Given the description of an element on the screen output the (x, y) to click on. 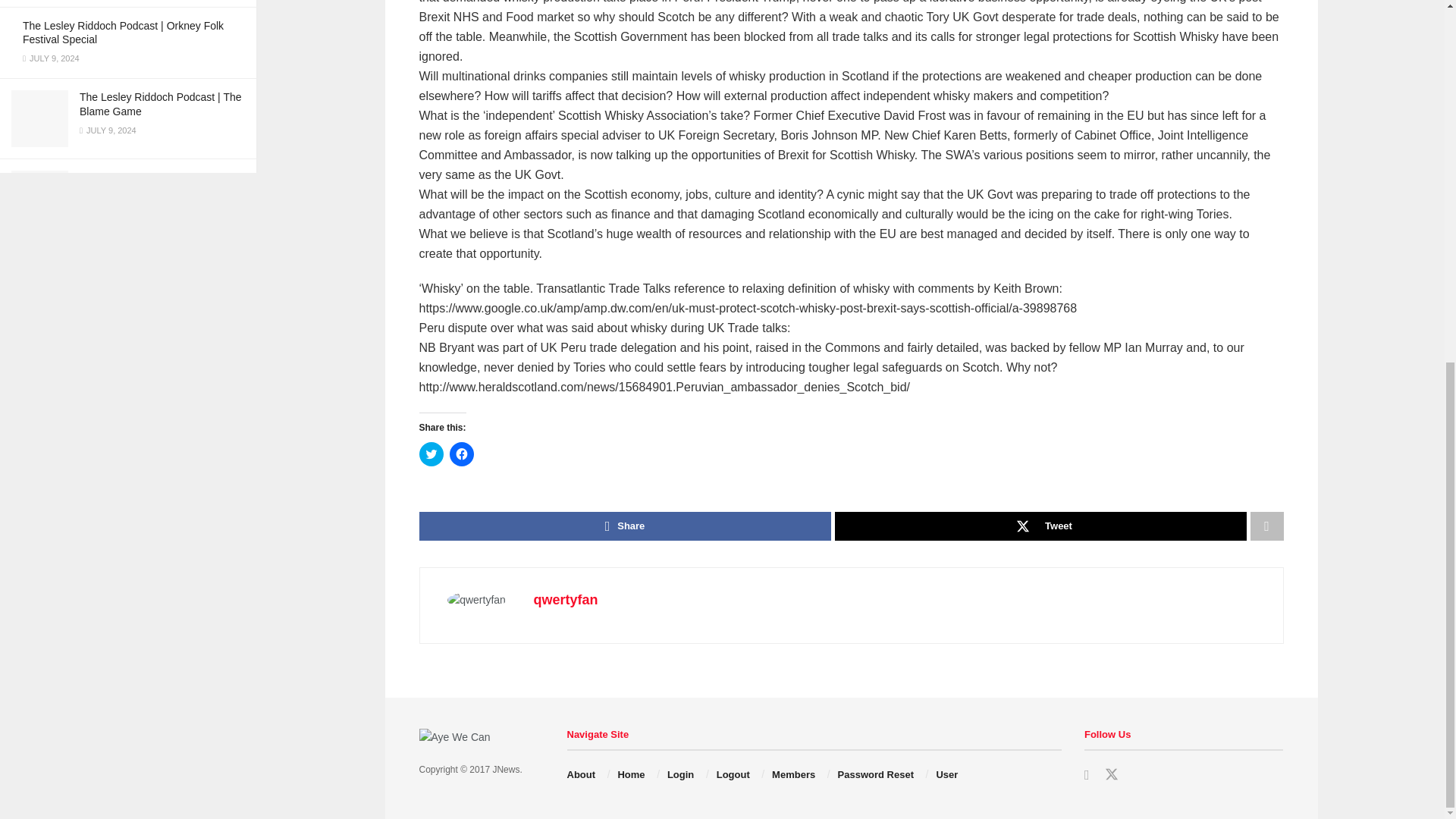
Click to share on Twitter (430, 454)
Click to share on Facebook (460, 454)
